Given the description of an element on the screen output the (x, y) to click on. 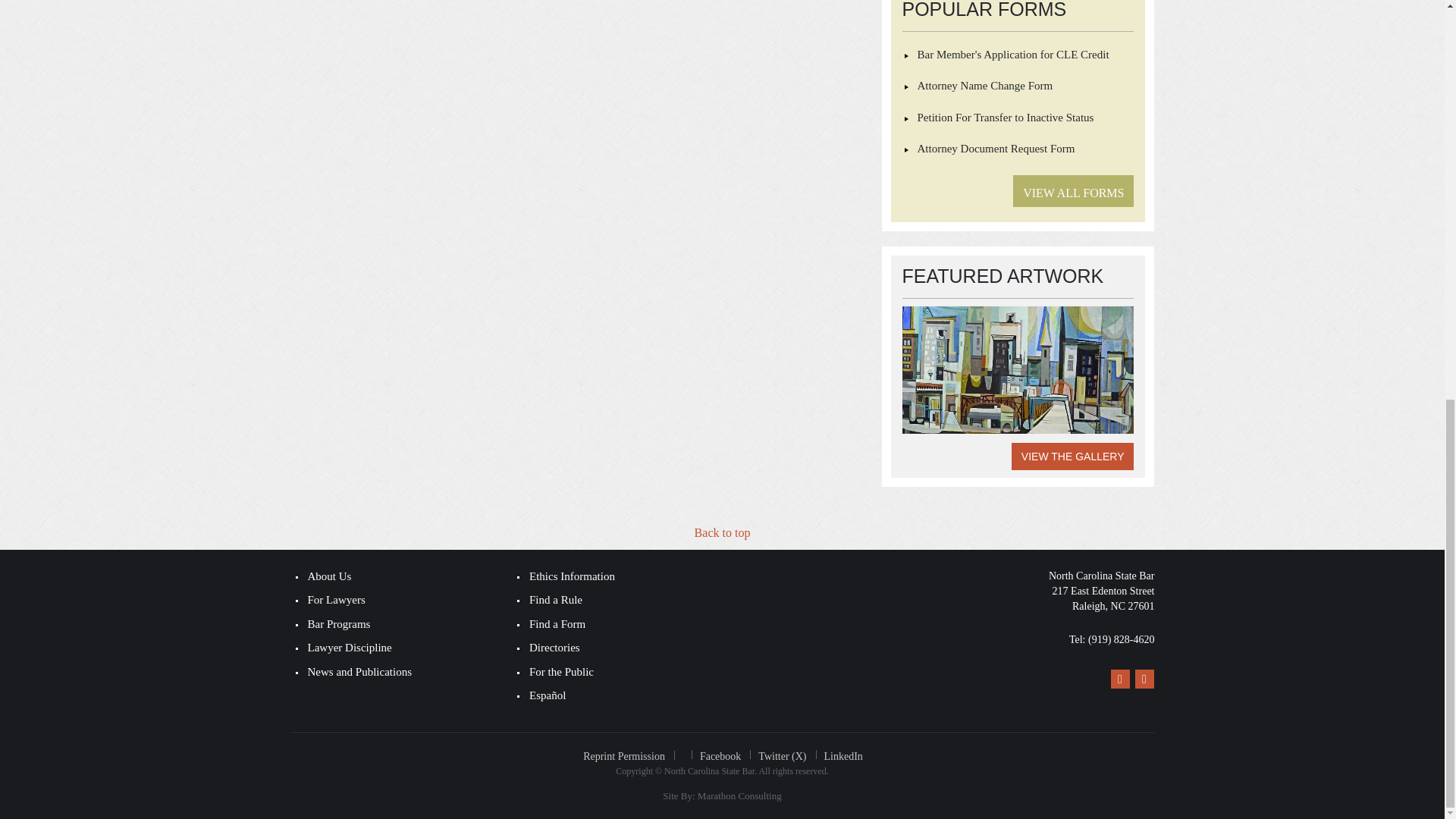
Facebook (1119, 678)
Twitter (1143, 678)
